Given the description of an element on the screen output the (x, y) to click on. 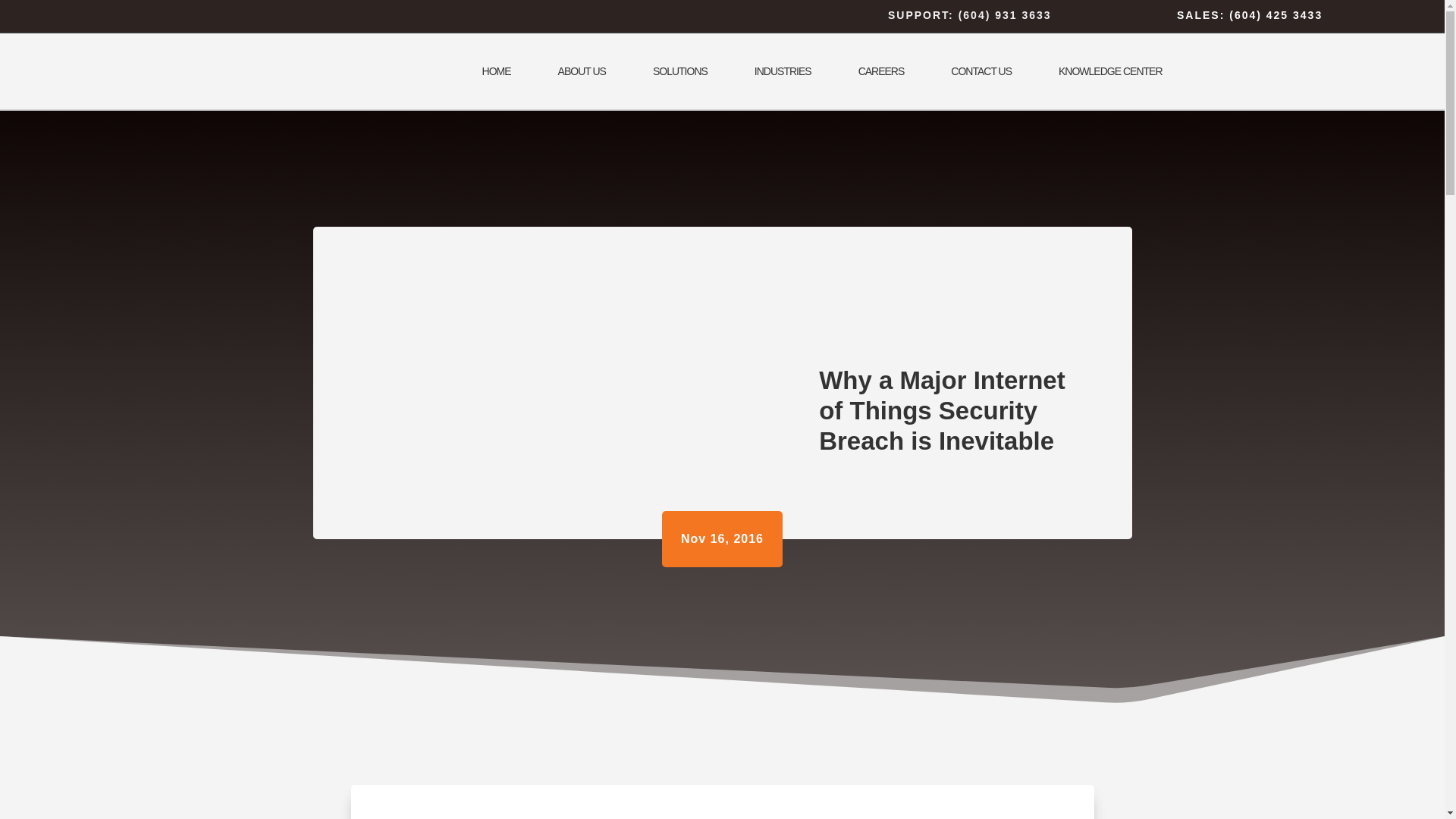
ABOUT US (582, 71)
CAREERS (881, 71)
KNOWLEDGE CENTER (1109, 71)
INDUSTRIES (783, 71)
HOME (496, 71)
CONTACT US (981, 71)
SOLUTIONS (679, 71)
